Given the description of an element on the screen output the (x, y) to click on. 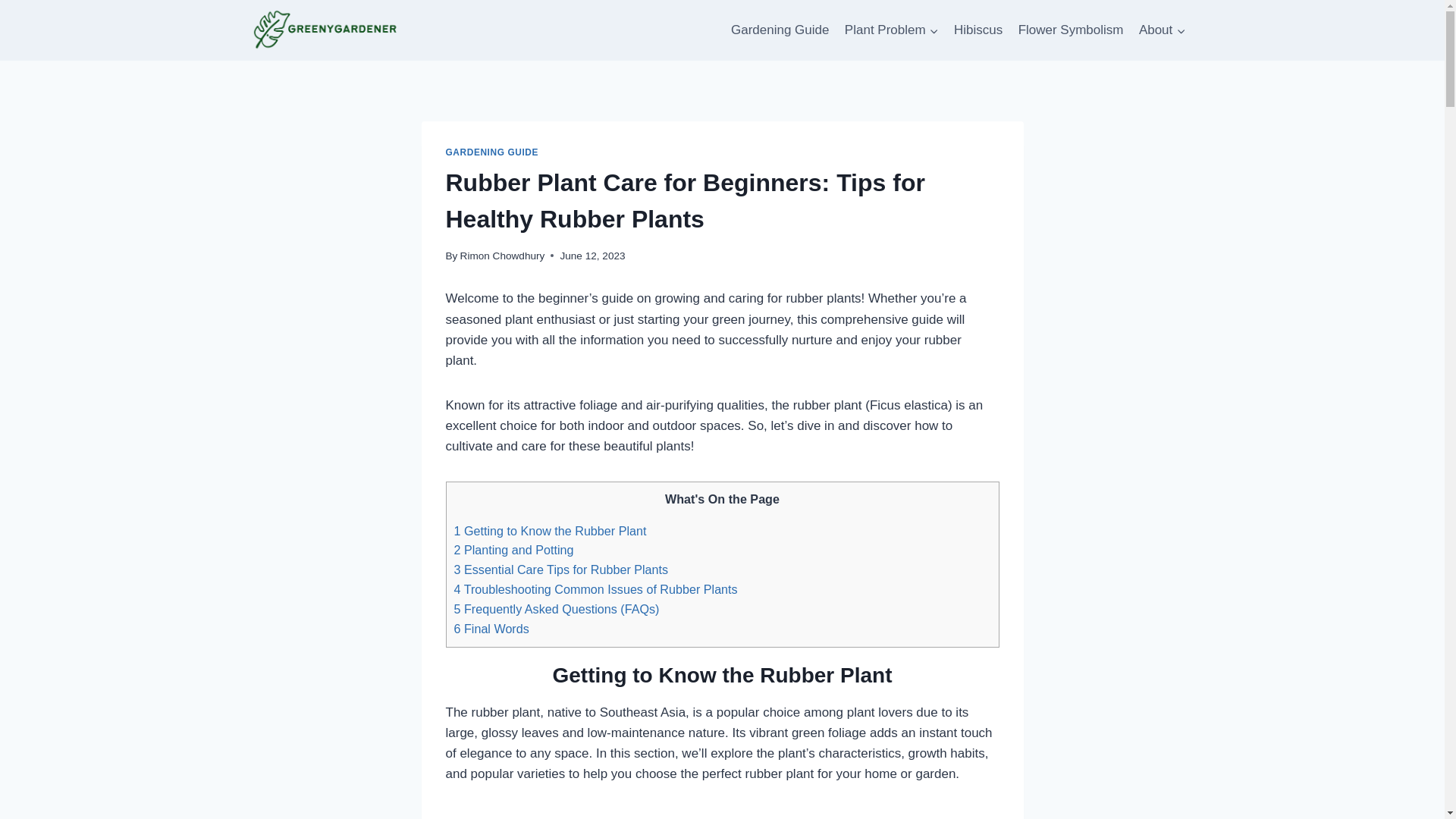
Rimon Chowdhury (502, 255)
3 Essential Care Tips for Rubber Plants (560, 569)
Hibiscus (978, 30)
Plant Problem (891, 30)
Gardening Guide (780, 30)
4 Troubleshooting Common Issues of Rubber Plants (594, 589)
GARDENING GUIDE (491, 152)
About (1162, 30)
1 Getting to Know the Rubber Plant (549, 530)
Flower Symbolism (1070, 30)
2 Planting and Potting (512, 549)
6 Final Words (490, 628)
